Given the description of an element on the screen output the (x, y) to click on. 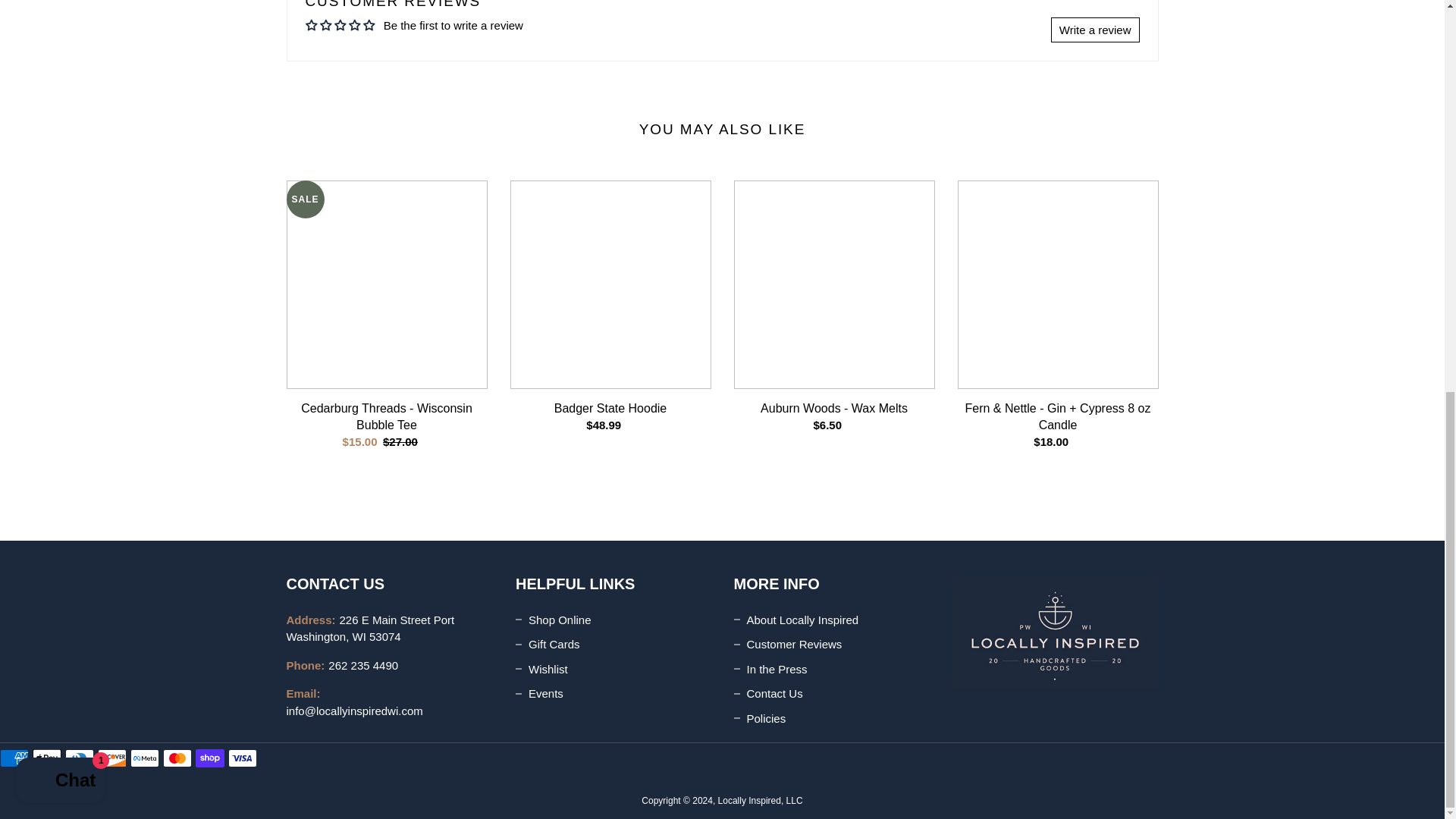
Shopify online store chat (60, 31)
